Given the description of an element on the screen output the (x, y) to click on. 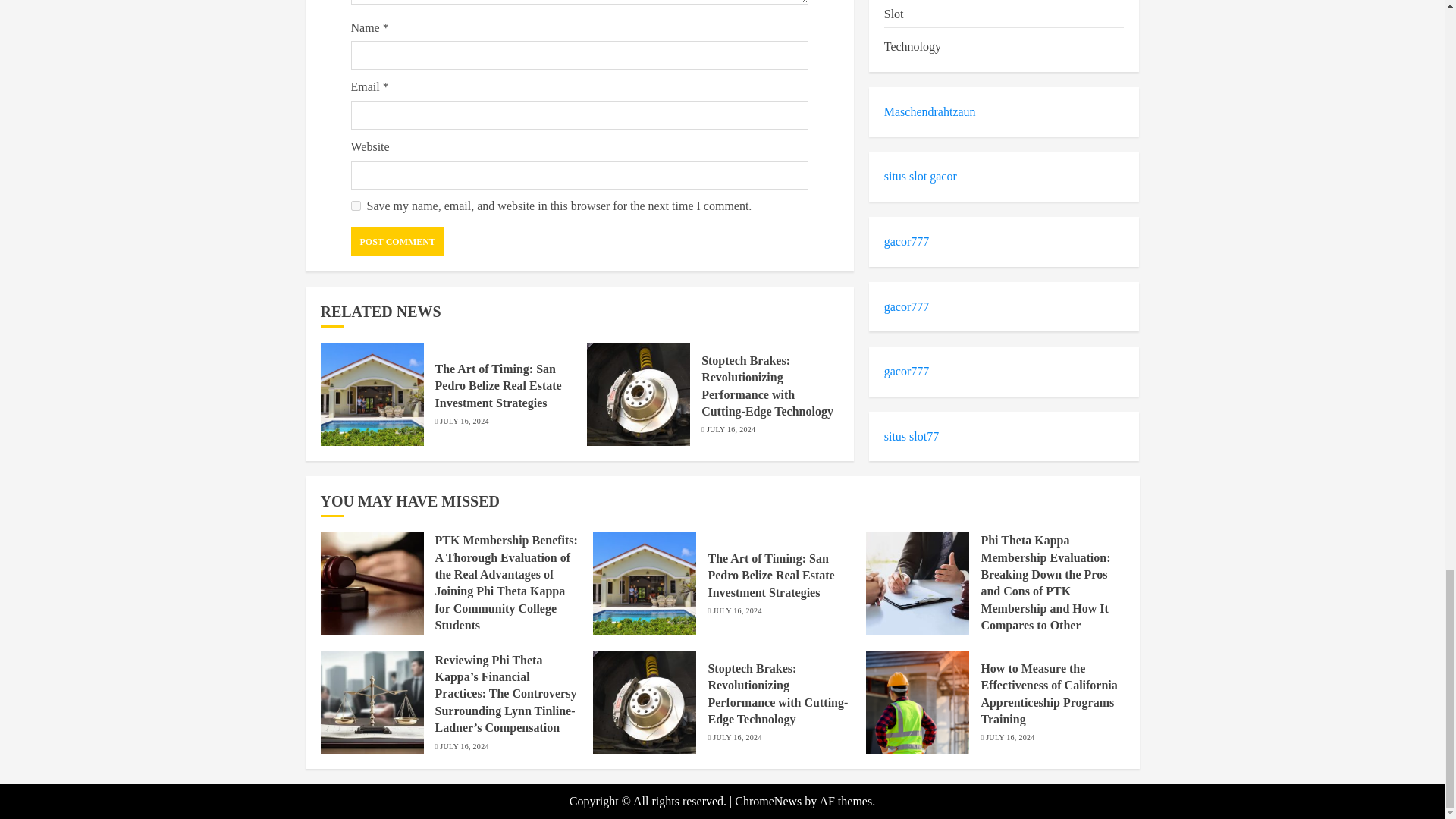
yes (354, 205)
JULY 16, 2024 (463, 421)
Post Comment (397, 241)
Post Comment (397, 241)
JULY 16, 2024 (730, 429)
